Given the description of an element on the screen output the (x, y) to click on. 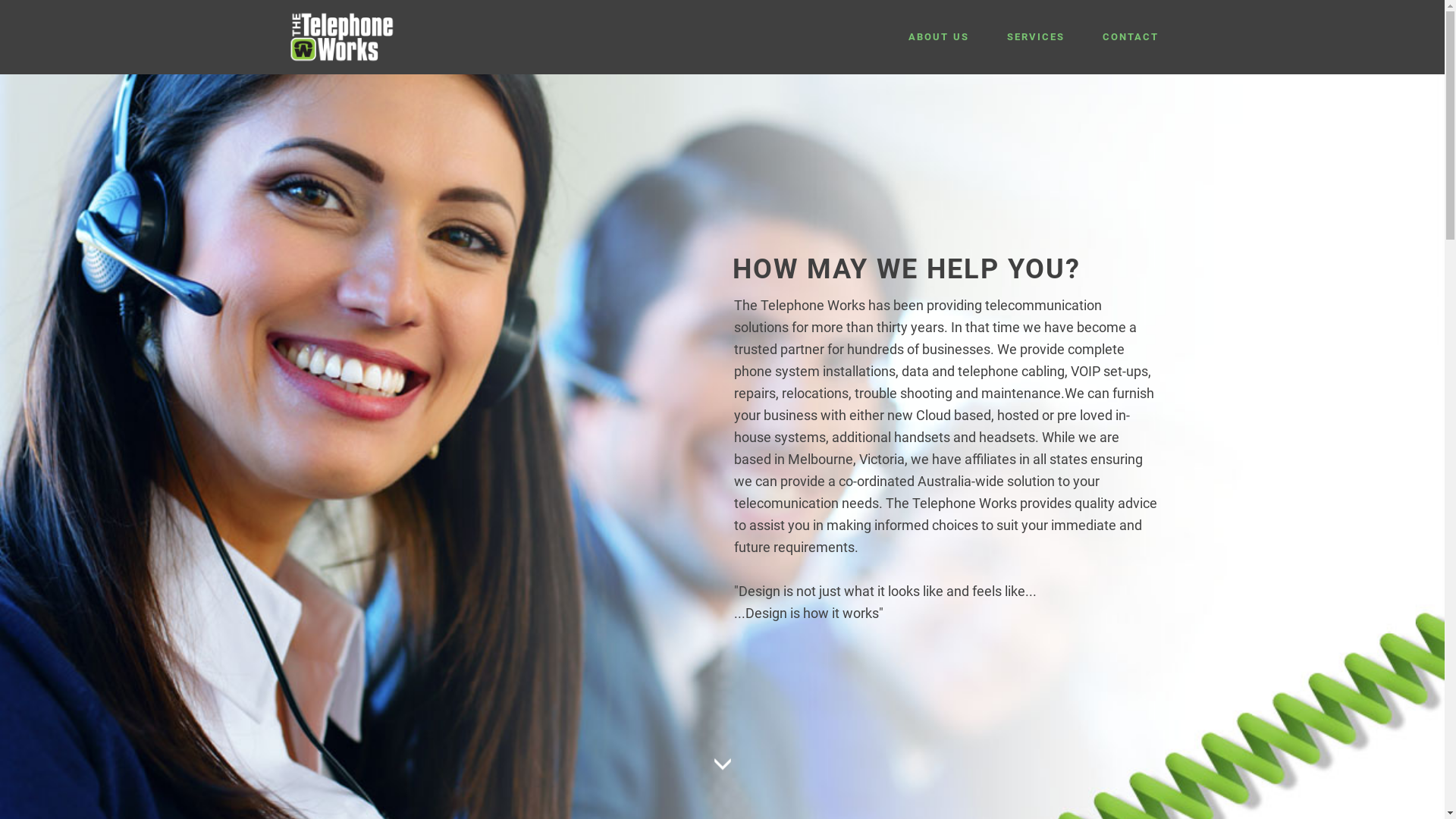
ABOUT US Element type: text (938, 36)
CONTACT Element type: text (1130, 36)
SERVICES Element type: text (1035, 36)
